Given the description of an element on the screen output the (x, y) to click on. 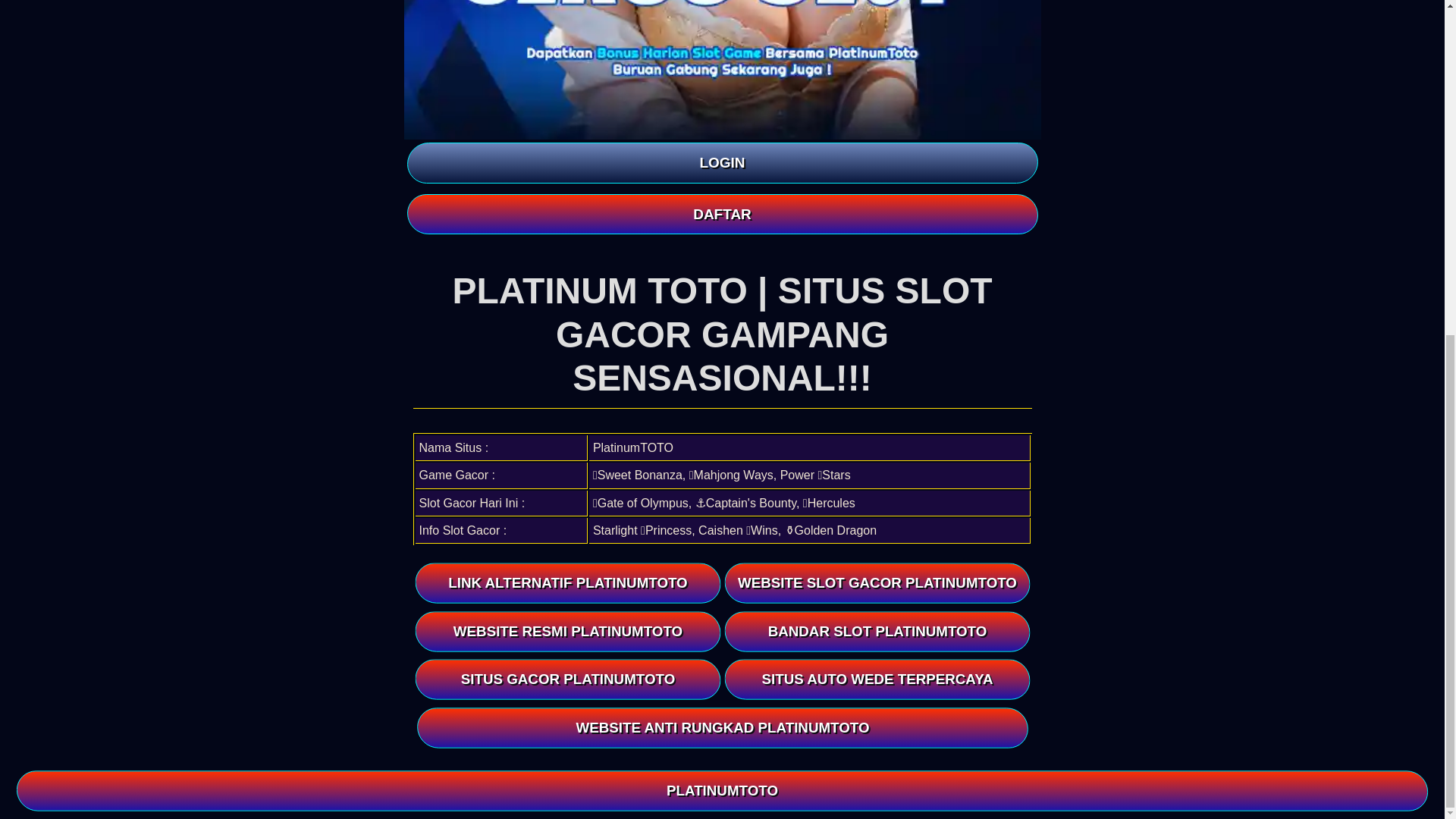
DAFTAR (721, 214)
BANDAR SLOT PLATINUMTOTO (878, 630)
WEBSITE RESMI PLATINUMTOTO (567, 630)
WEBSITE SLOT GACOR PLATINUMTOTO (878, 582)
SITUS AUTO WEDE TERPERCAYA (879, 680)
LINK ALTERNATIF PLATINUMTOTO (567, 582)
SITUS GACOR PLATINUMTOTO (568, 679)
LOGIN (721, 162)
WEBSITE ANTI RUNGKAD PLATINUMTOTO (727, 727)
